Given the description of an element on the screen output the (x, y) to click on. 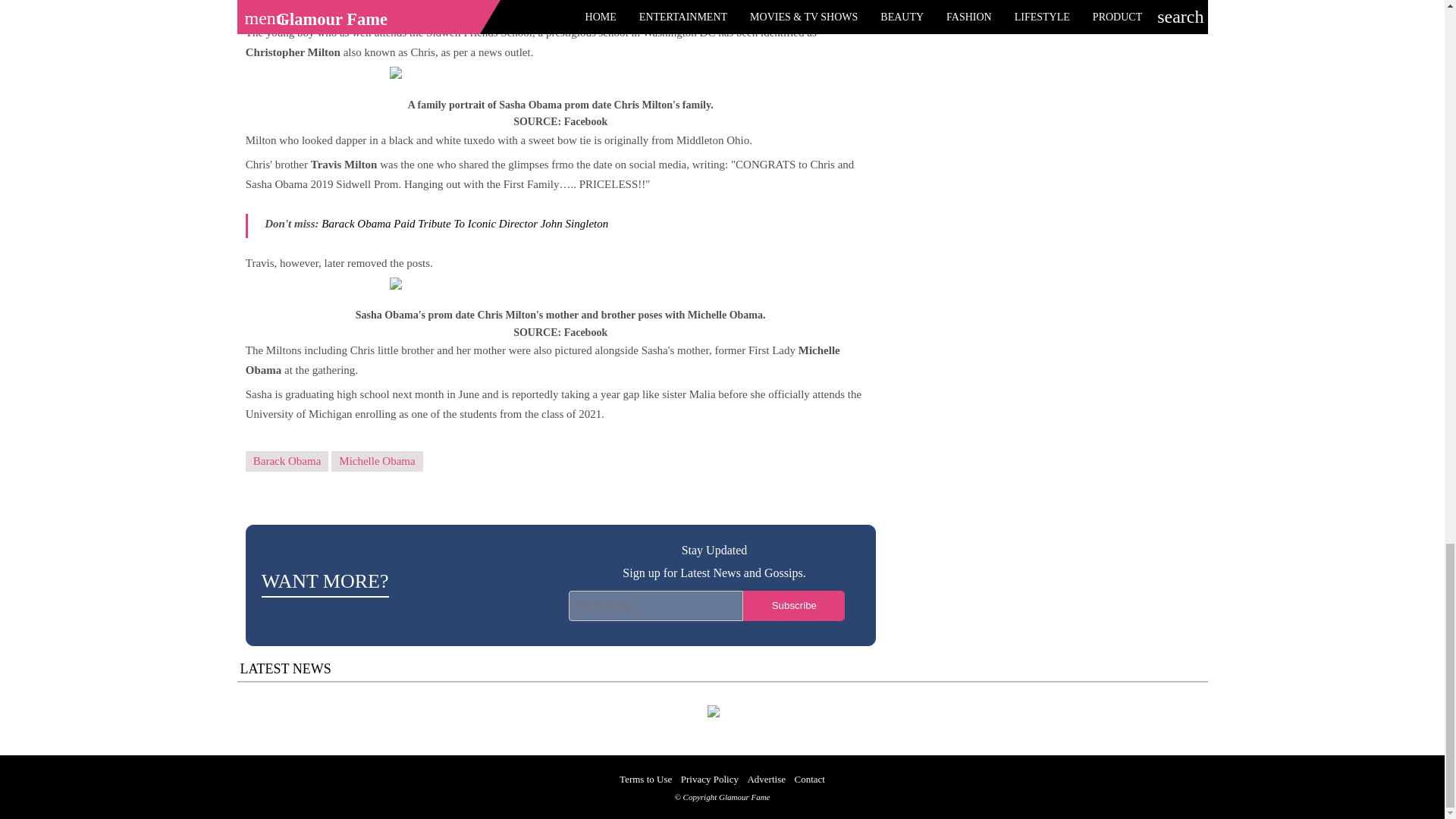
Privacy Policy (709, 778)
Terms to Use (645, 778)
Barack Obama (287, 461)
Michelle Obama (376, 461)
Subscribe (793, 605)
Advertise (766, 778)
Barack Obama Paid Tribute To Iconic Director John Singleton (464, 223)
Contact (808, 778)
